Given the description of an element on the screen output the (x, y) to click on. 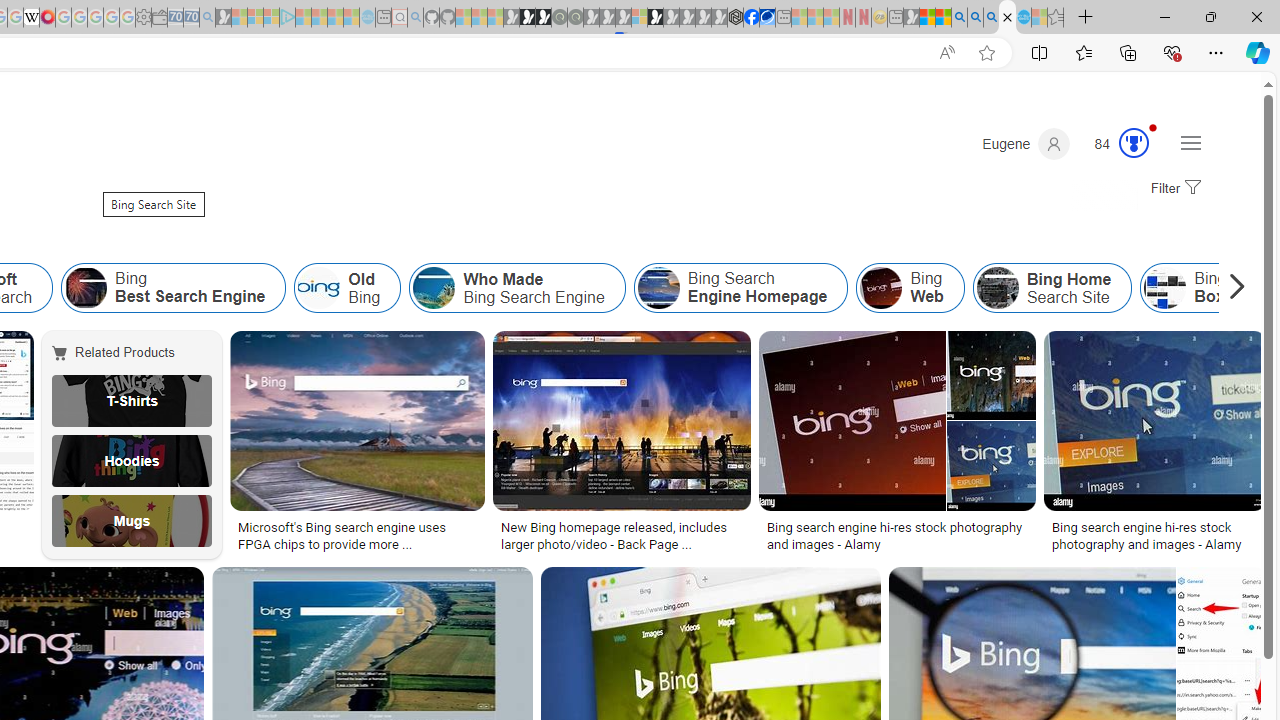
Eugene (1026, 143)
Filter (1173, 189)
Sign in to your account - Sleeping (639, 17)
MSN - Sleeping (911, 17)
Bing Search Box History (1165, 287)
2009 Bing officially replaced Live Search on June 3 - Search (975, 17)
Nordace - Cooler Bags (735, 17)
Bing Search Engine Homepage (658, 287)
Who Made Bing Search Engine (516, 287)
